Given the description of an element on the screen output the (x, y) to click on. 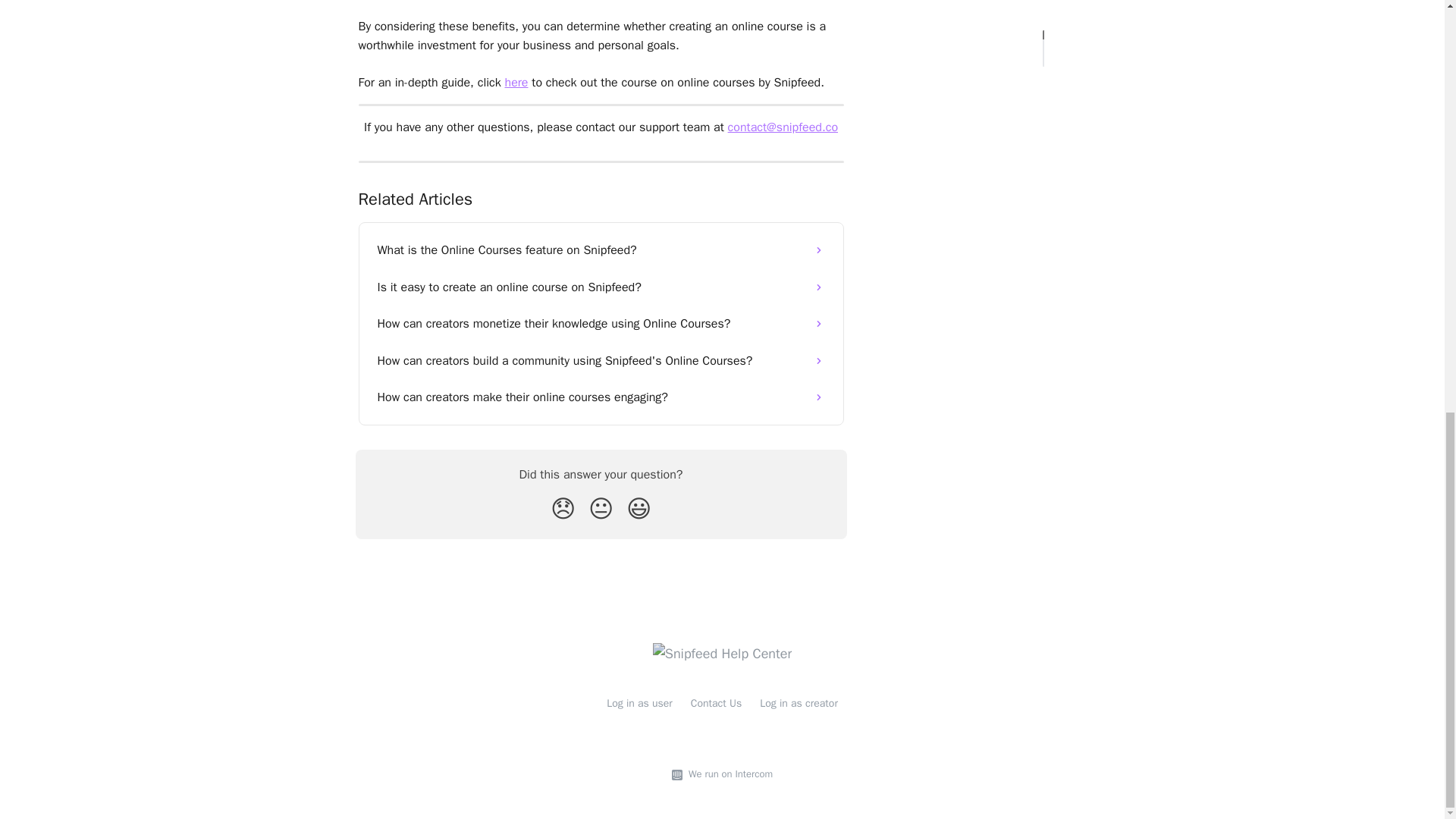
Log in as creator (799, 703)
here (516, 82)
Log in as user (639, 703)
Is it easy to create an online course on Snipfeed? (601, 287)
Contact Us (715, 703)
We run on Intercom (727, 774)
What is the Online Courses feature on Snipfeed? (601, 249)
How can creators make their online courses engaging? (601, 397)
